Given the description of an element on the screen output the (x, y) to click on. 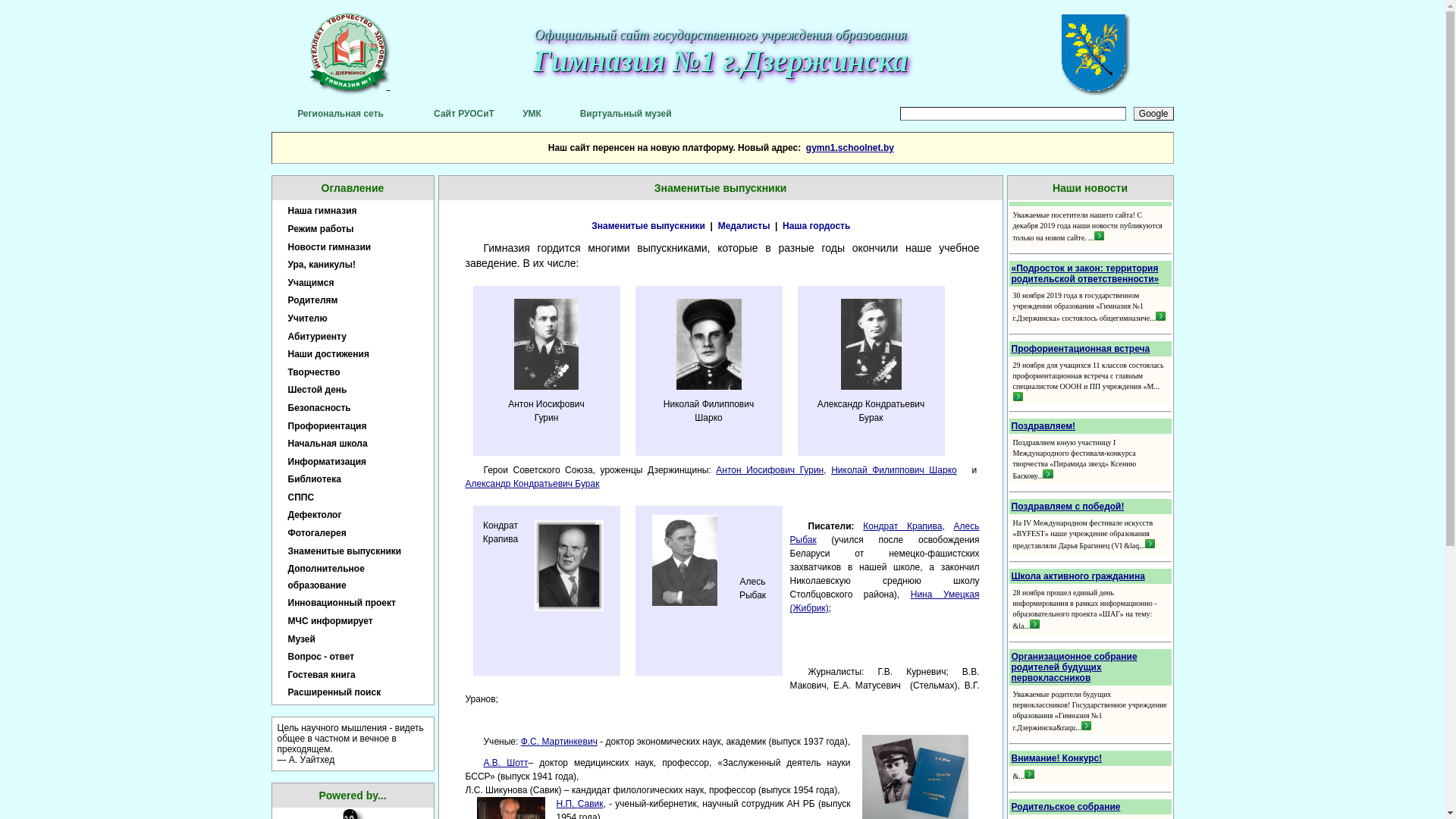
  Element type: text (387, 84)
Google Element type: text (1153, 113)
gymn1.schoolnet.by Element type: text (850, 147)
